Given the description of an element on the screen output the (x, y) to click on. 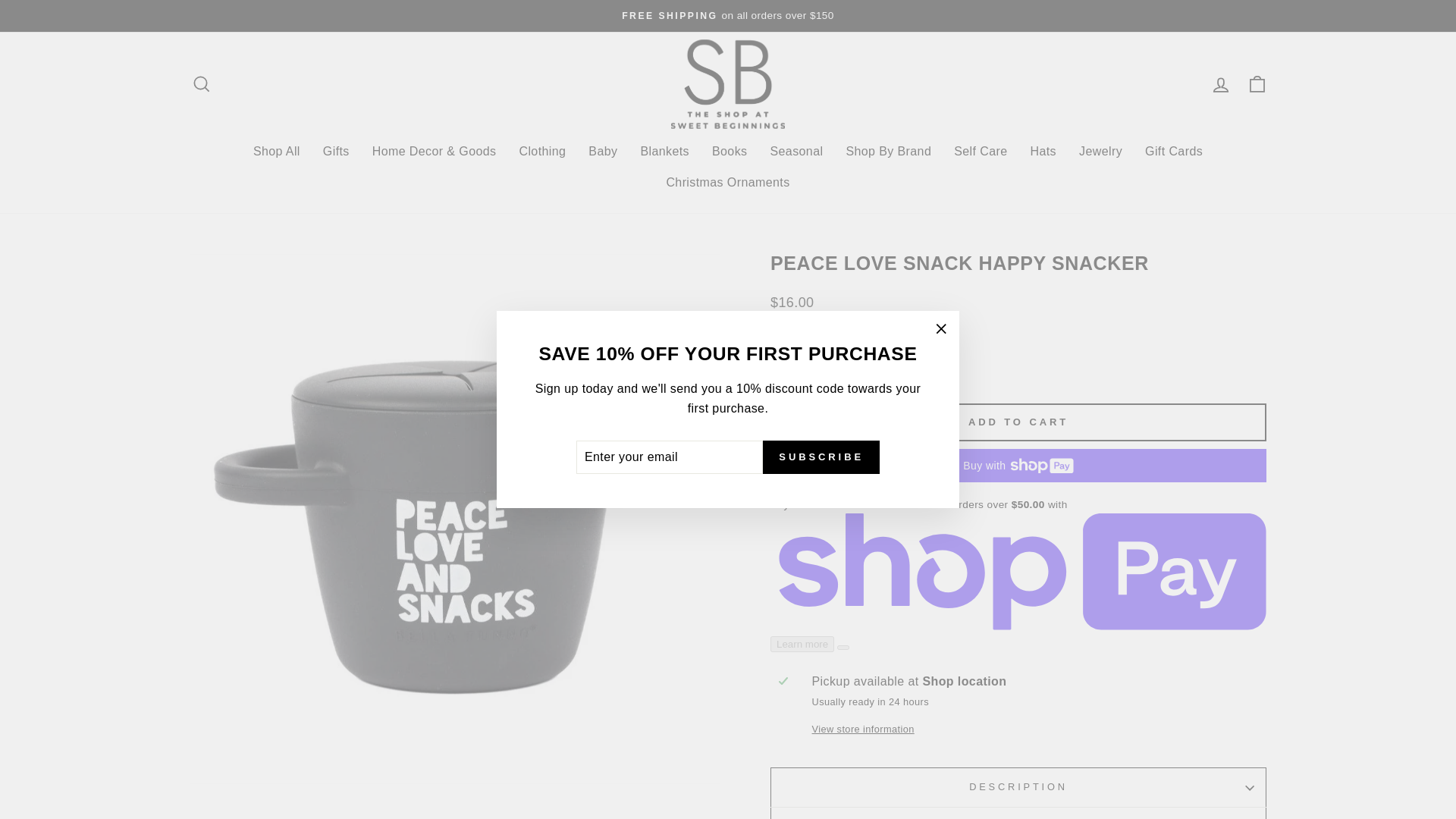
1 (800, 369)
